Given the description of an element on the screen output the (x, y) to click on. 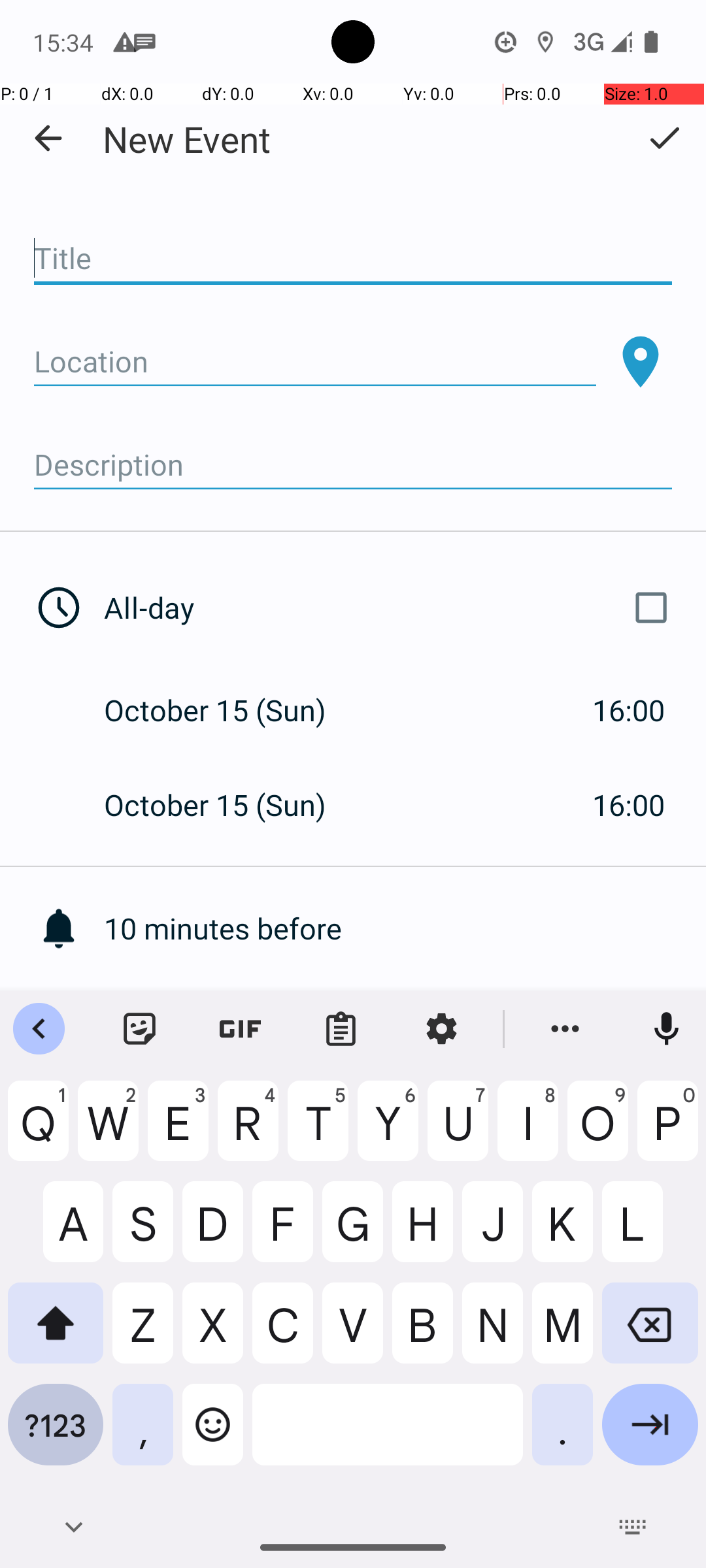
16:00 Element type: android.widget.TextView (628, 709)
10 minutes before Element type: android.widget.TextView (404, 927)
Add another reminder Element type: android.widget.TextView (404, 1022)
